Given the description of an element on the screen output the (x, y) to click on. 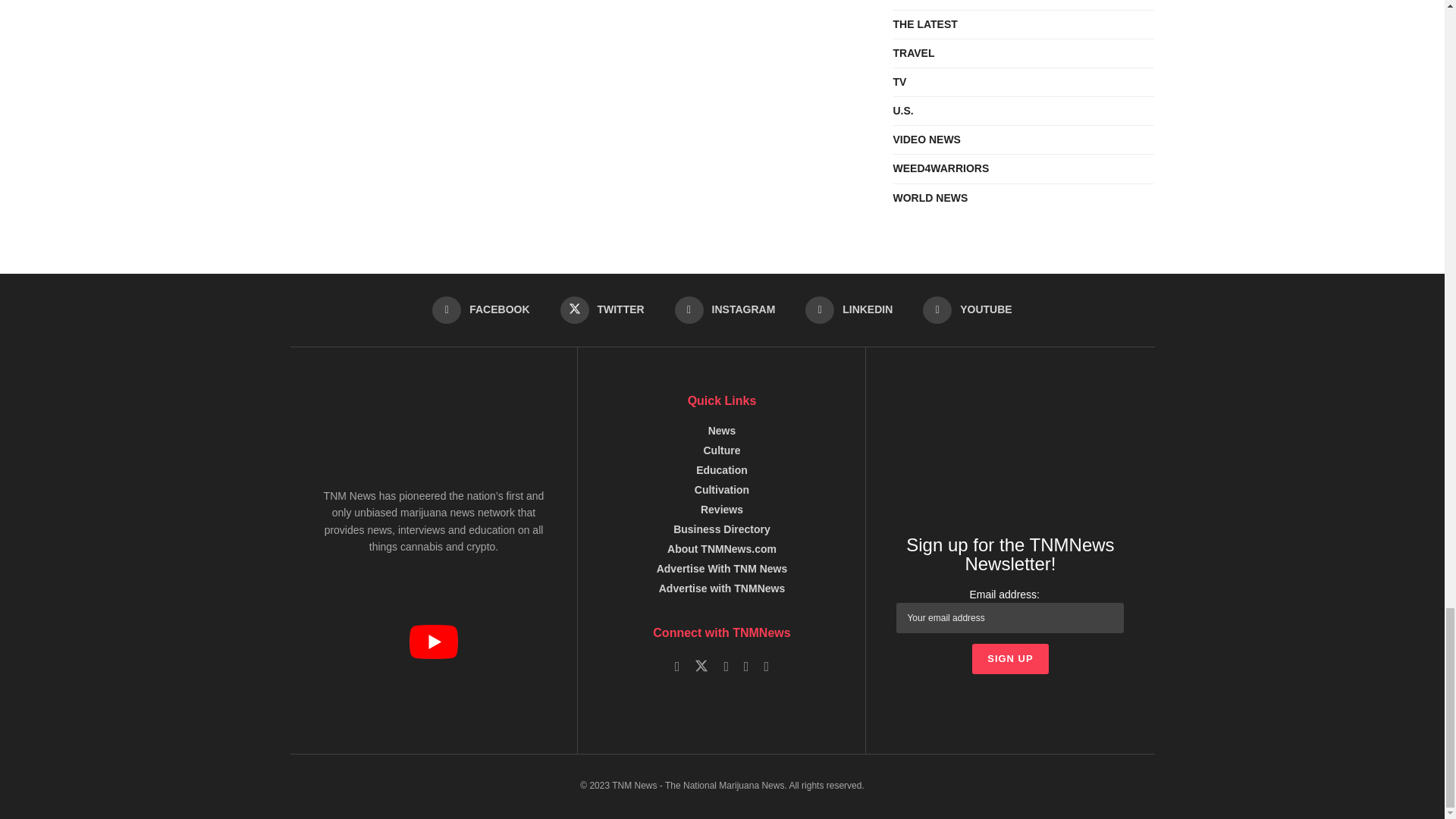
Sign up (1010, 658)
